Given the description of an element on the screen output the (x, y) to click on. 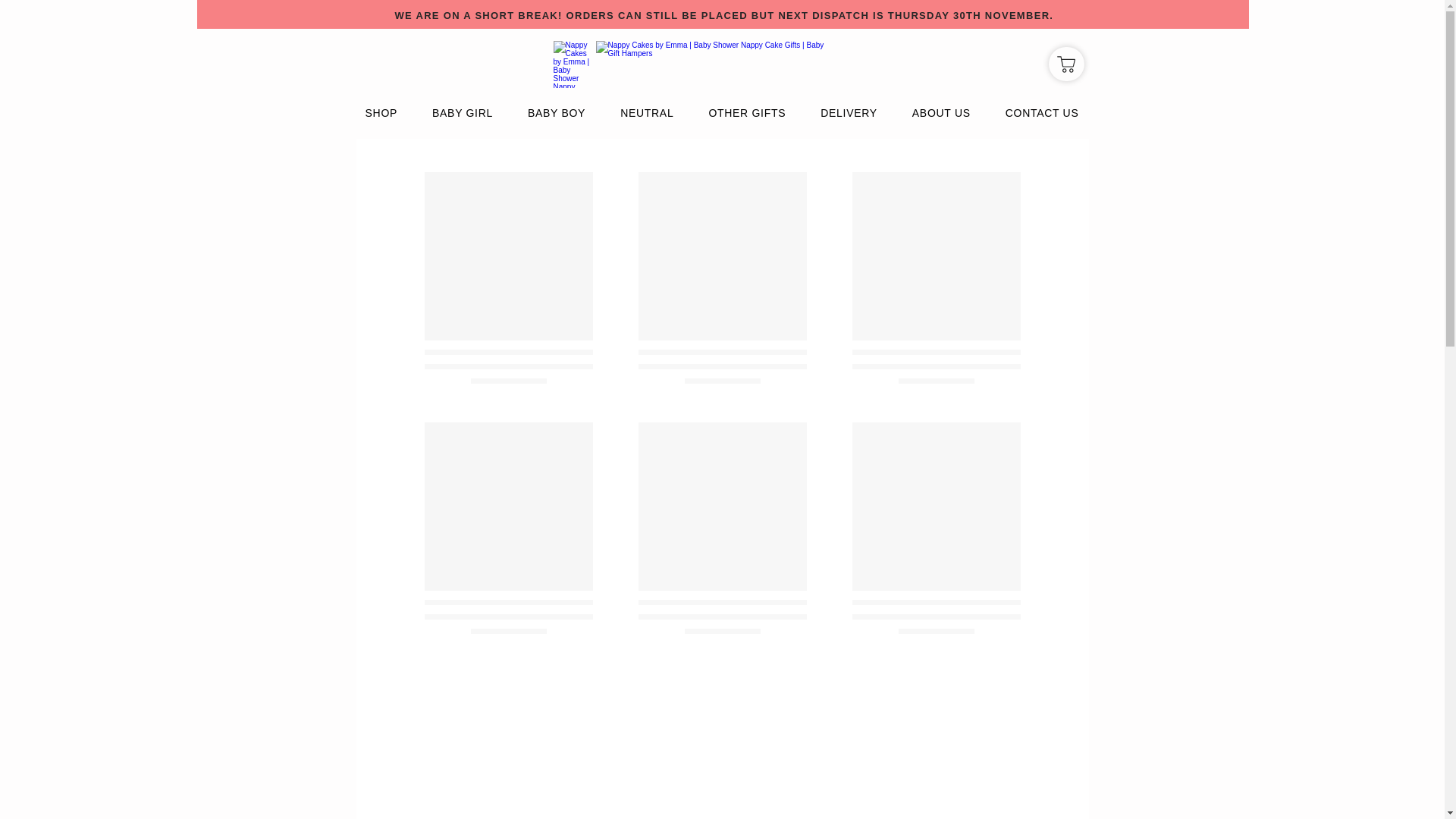
ABOUT US Element type: text (941, 112)
BABY BOY Element type: text (556, 112)
DELIVERY Element type: text (848, 112)
OTHER GIFTS Element type: text (746, 112)
BABY GIRL Element type: text (462, 112)
SHOP Element type: text (381, 112)
CONTACT US Element type: text (1041, 112)
NEUTRAL Element type: text (646, 112)
